Given the description of an element on the screen output the (x, y) to click on. 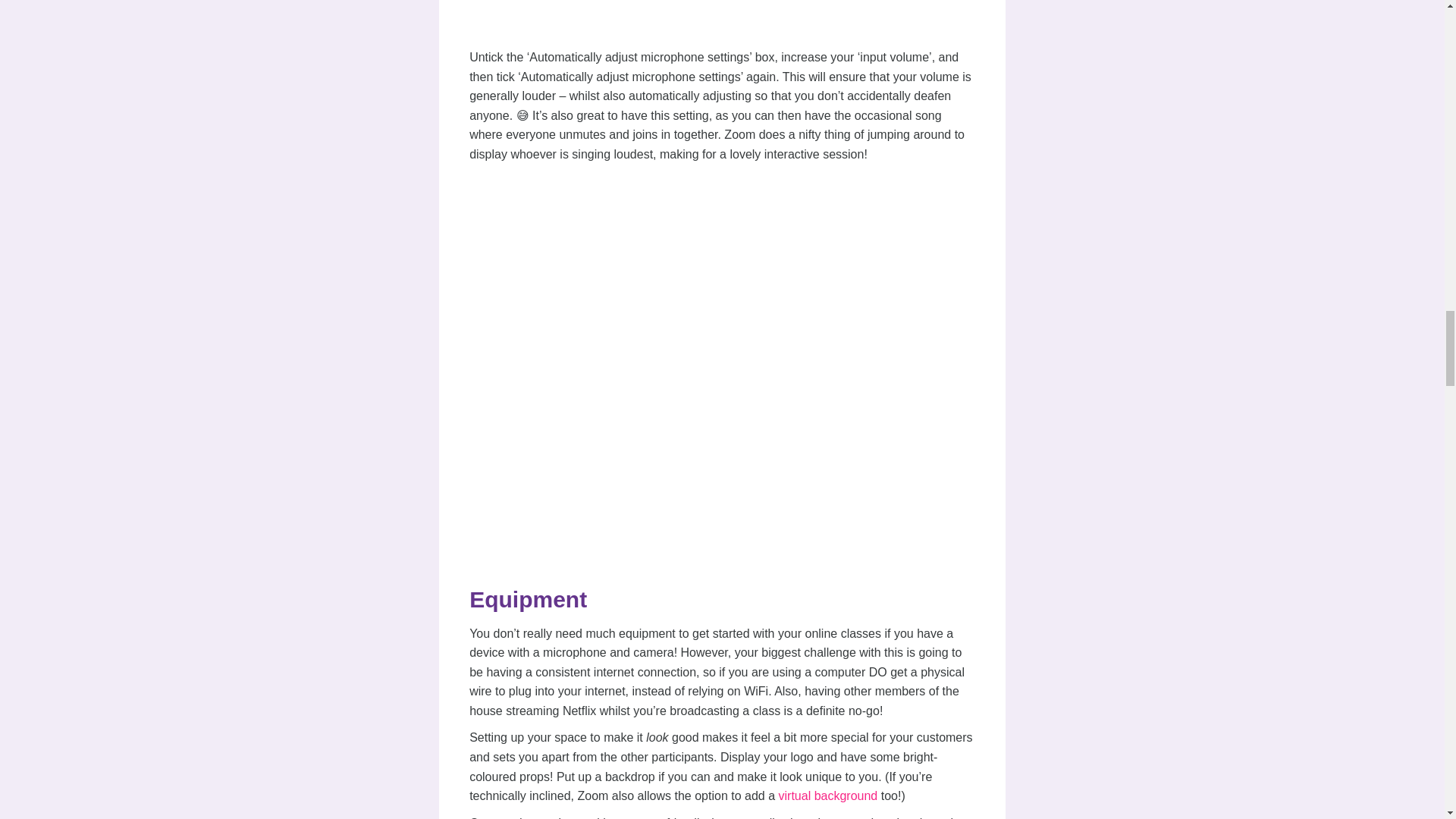
virtual background (827, 795)
